Given the description of an element on the screen output the (x, y) to click on. 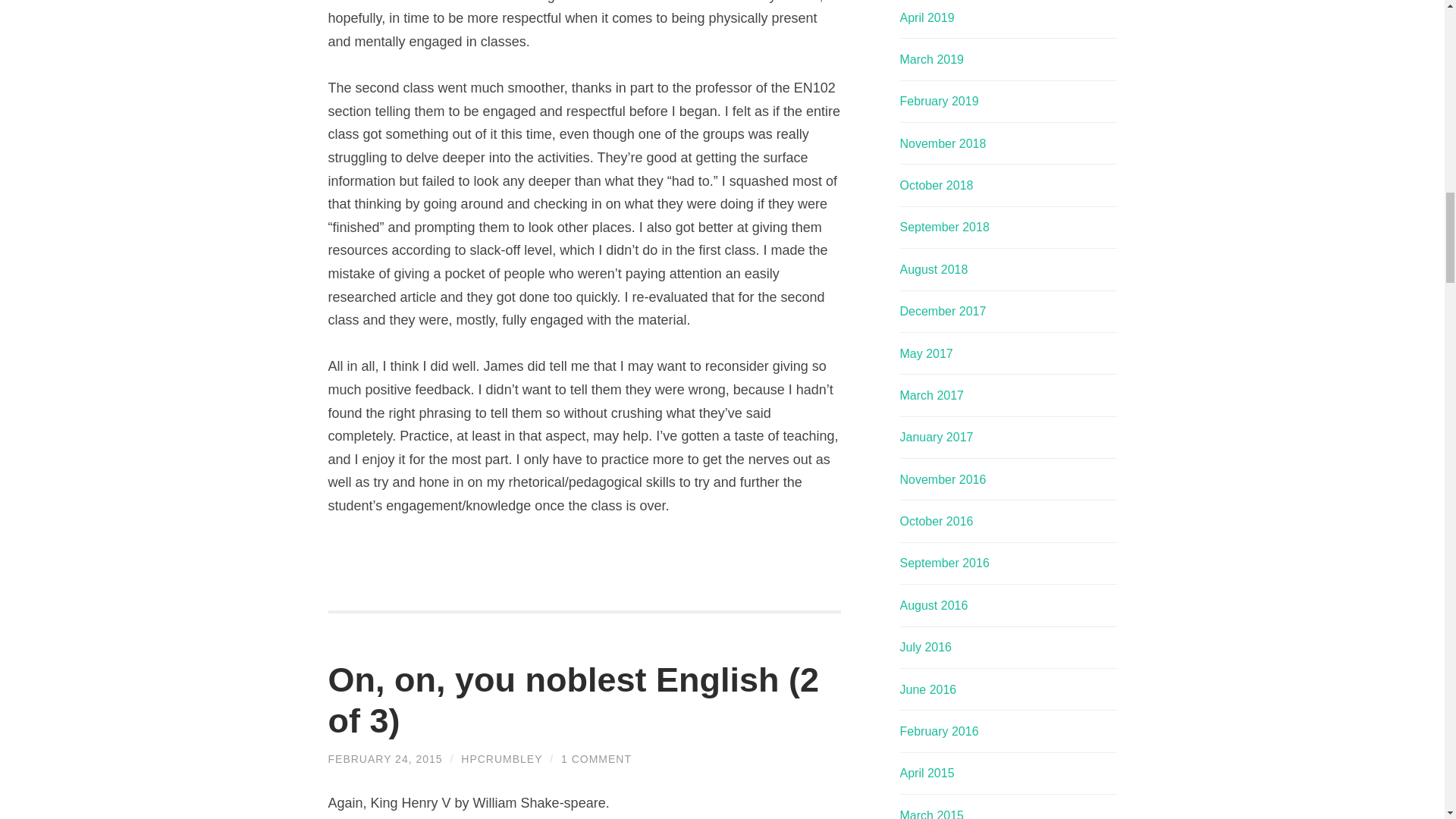
HPCRUMBLEY (501, 758)
1 COMMENT (595, 758)
